Given the description of an element on the screen output the (x, y) to click on. 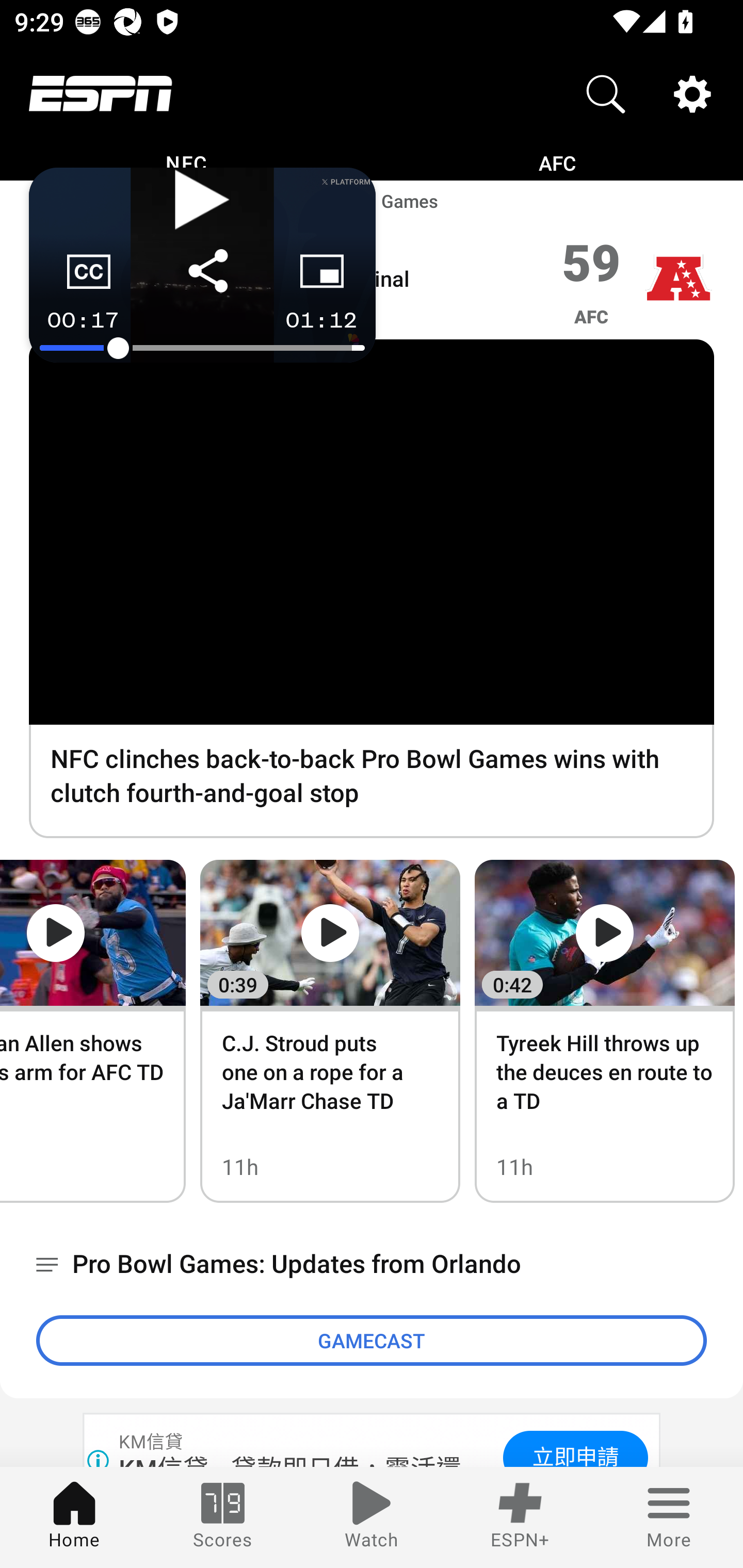
Search (605, 93)
Settings (692, 93)
 Keenan Allen shows off his arm for AFC TD 12h (92, 1030)
 Pro Bowl Games: Updates from Orlando (371, 1264)
GAMECAST (371, 1340)
KM信貸 (151, 1441)
立即申請 (575, 1448)
Scores (222, 1517)
Watch (371, 1517)
ESPN+ (519, 1517)
More (668, 1517)
